Given the description of an element on the screen output the (x, y) to click on. 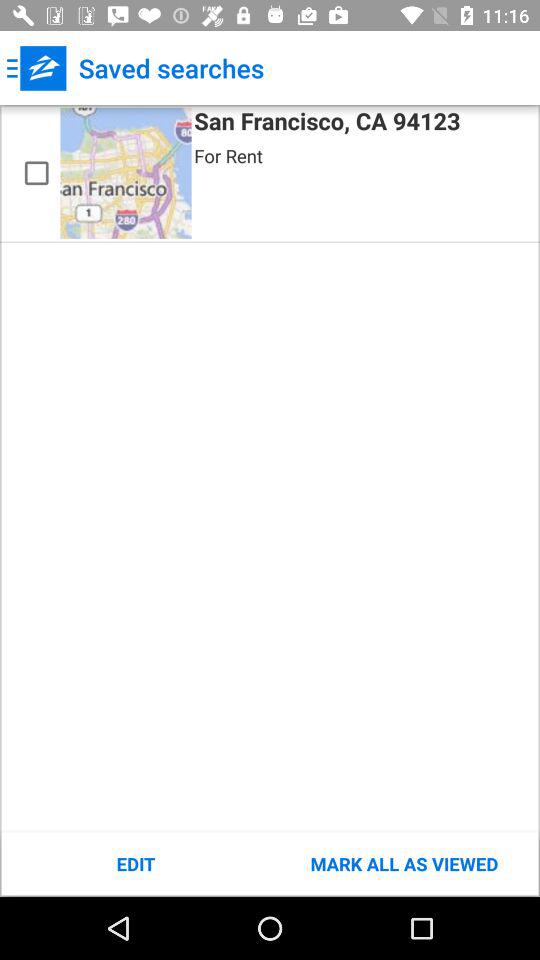
turn on icon above edit icon (125, 172)
